Given the description of an element on the screen output the (x, y) to click on. 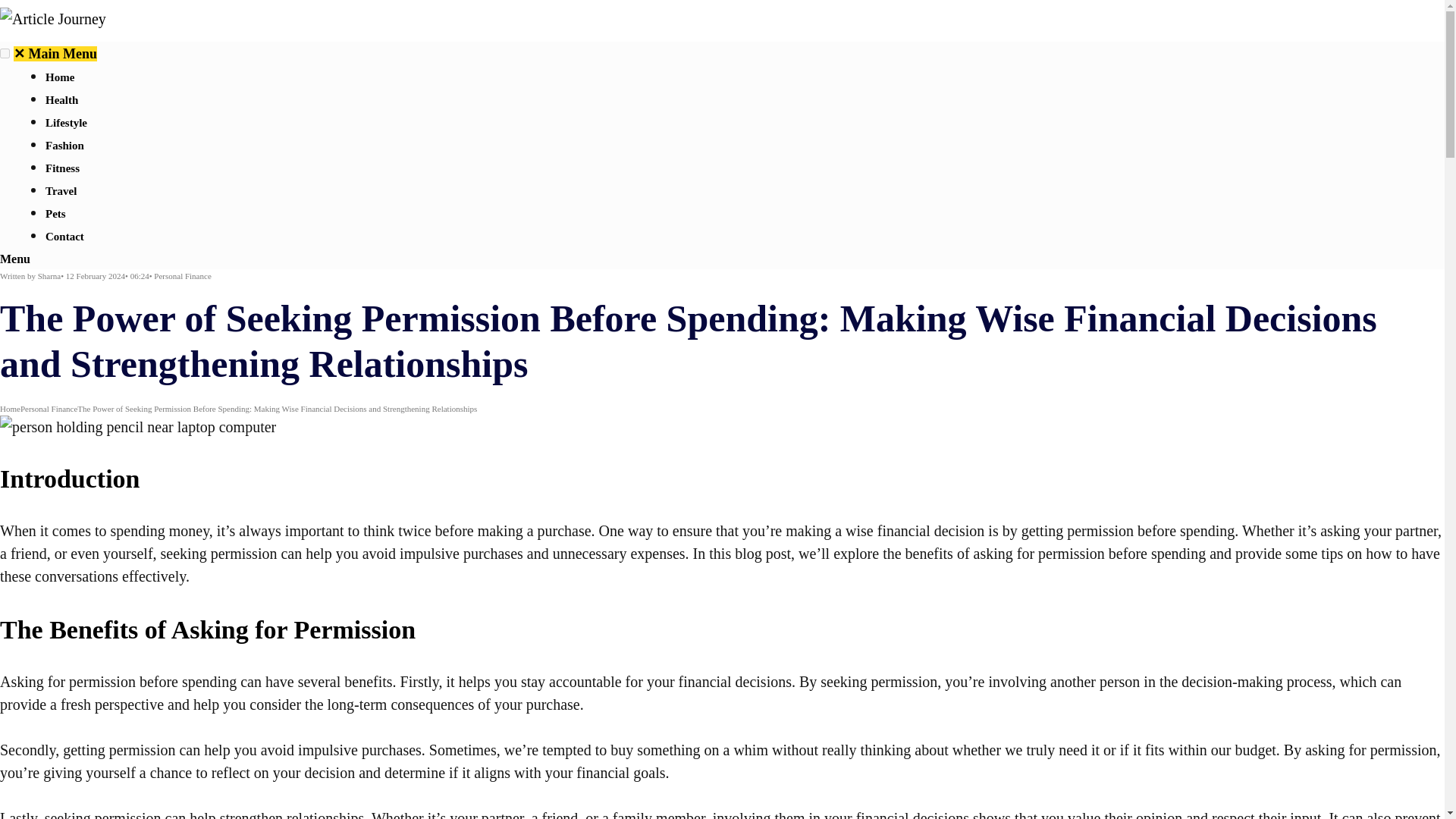
Contact (64, 236)
Fitness (62, 168)
Sharna (49, 275)
on (5, 53)
Fashion (64, 145)
Health (61, 100)
Home (10, 407)
Travel (61, 191)
Personal Finance (48, 407)
Personal Finance (182, 275)
Menu (15, 258)
Posts by Sharna (49, 275)
Lifestyle (66, 122)
Pets (55, 214)
Home (59, 77)
